Given the description of an element on the screen output the (x, y) to click on. 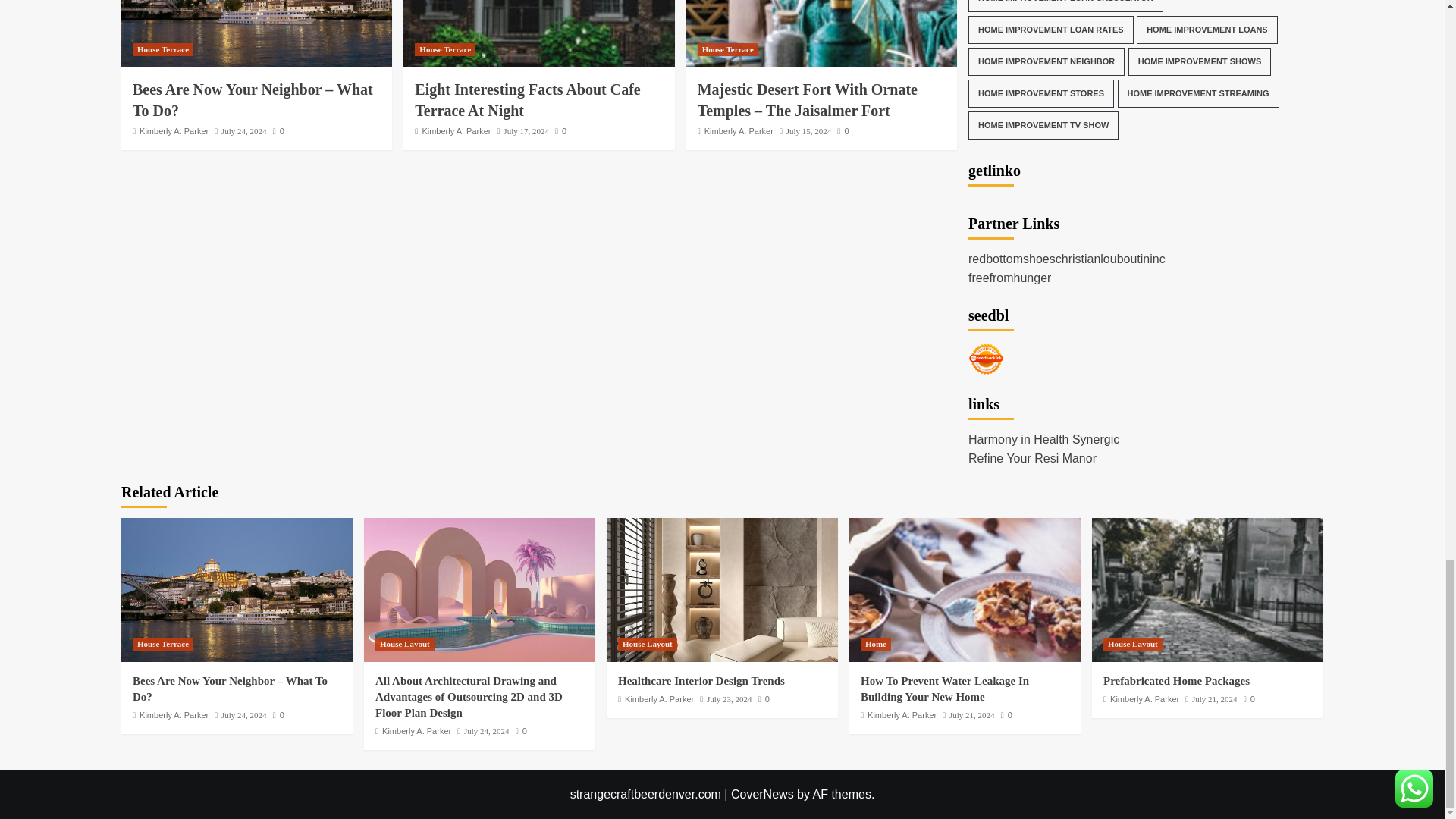
Eight Interesting Facts About Cafe Terrace At Night (538, 33)
Healthcare Interior Design Trends (722, 589)
Kimberly A. Parker (173, 130)
Seedbacklink (986, 358)
House Terrace (162, 49)
July 24, 2024 (243, 130)
